Given the description of an element on the screen output the (x, y) to click on. 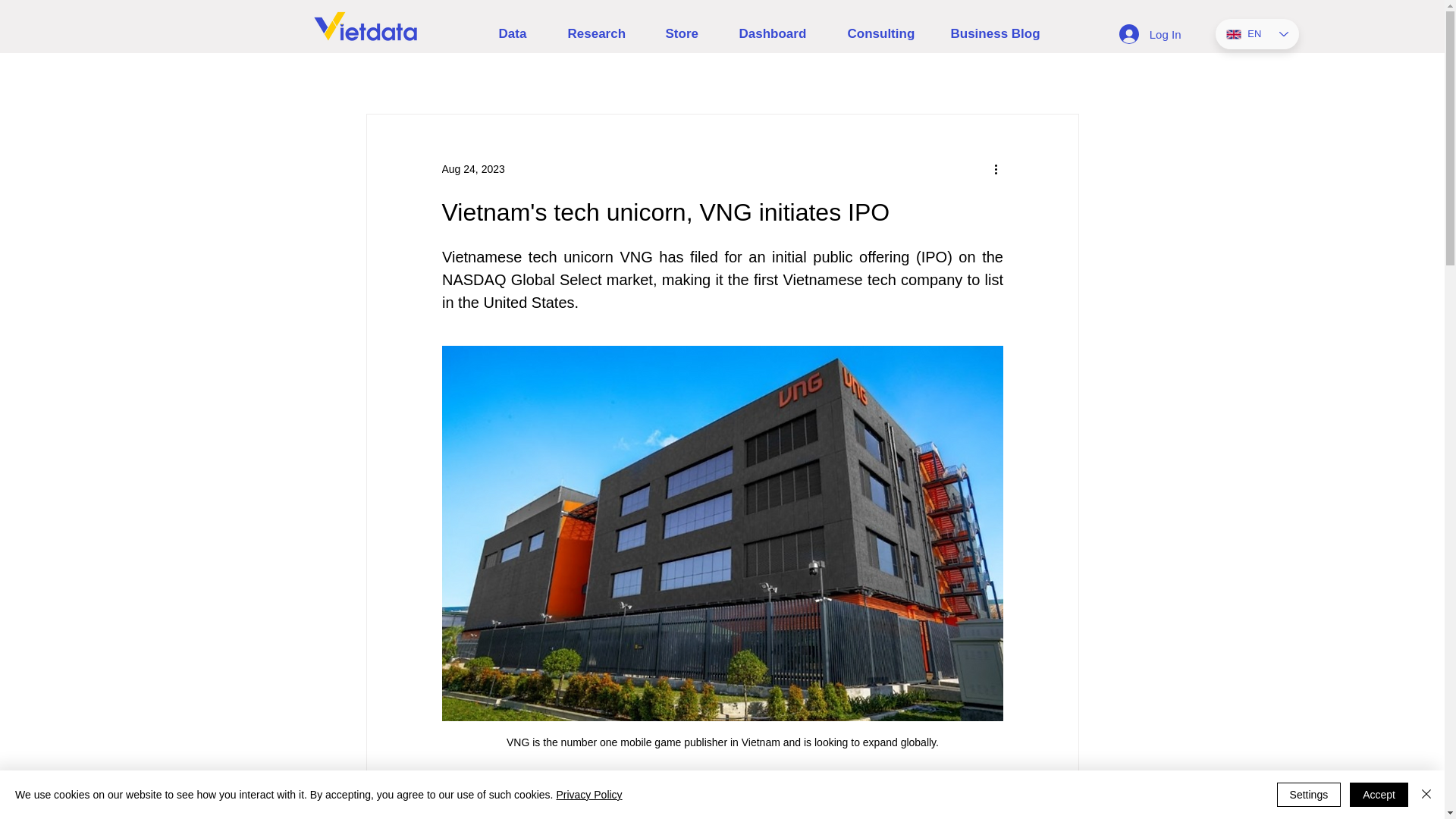
Research (604, 33)
Aug 24, 2023 (472, 168)
Store (689, 33)
Log In (1150, 33)
Data (521, 33)
Business Blog (1000, 33)
Consulting (887, 33)
Dashboard (781, 33)
